Given the description of an element on the screen output the (x, y) to click on. 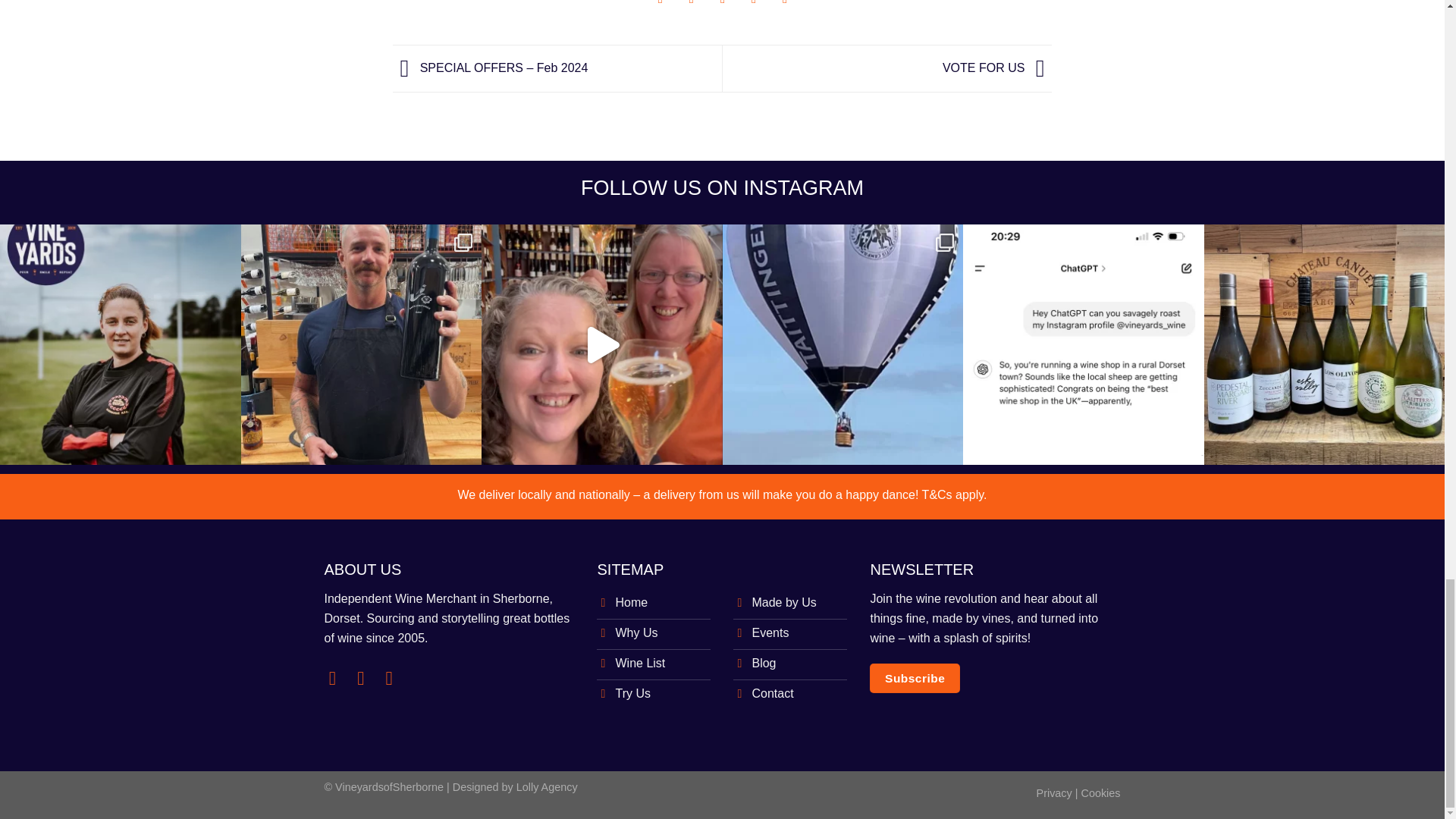
Pin on Pinterest (753, 7)
Email to a Friend (723, 7)
Share on Facebook (660, 7)
Follow on Facebook (338, 677)
Follow on Instagram (365, 677)
Share on LinkedIn (785, 7)
Share on Twitter (692, 7)
Follow on Twitter (394, 677)
VOTE FOR US (997, 67)
